Given the description of an element on the screen output the (x, y) to click on. 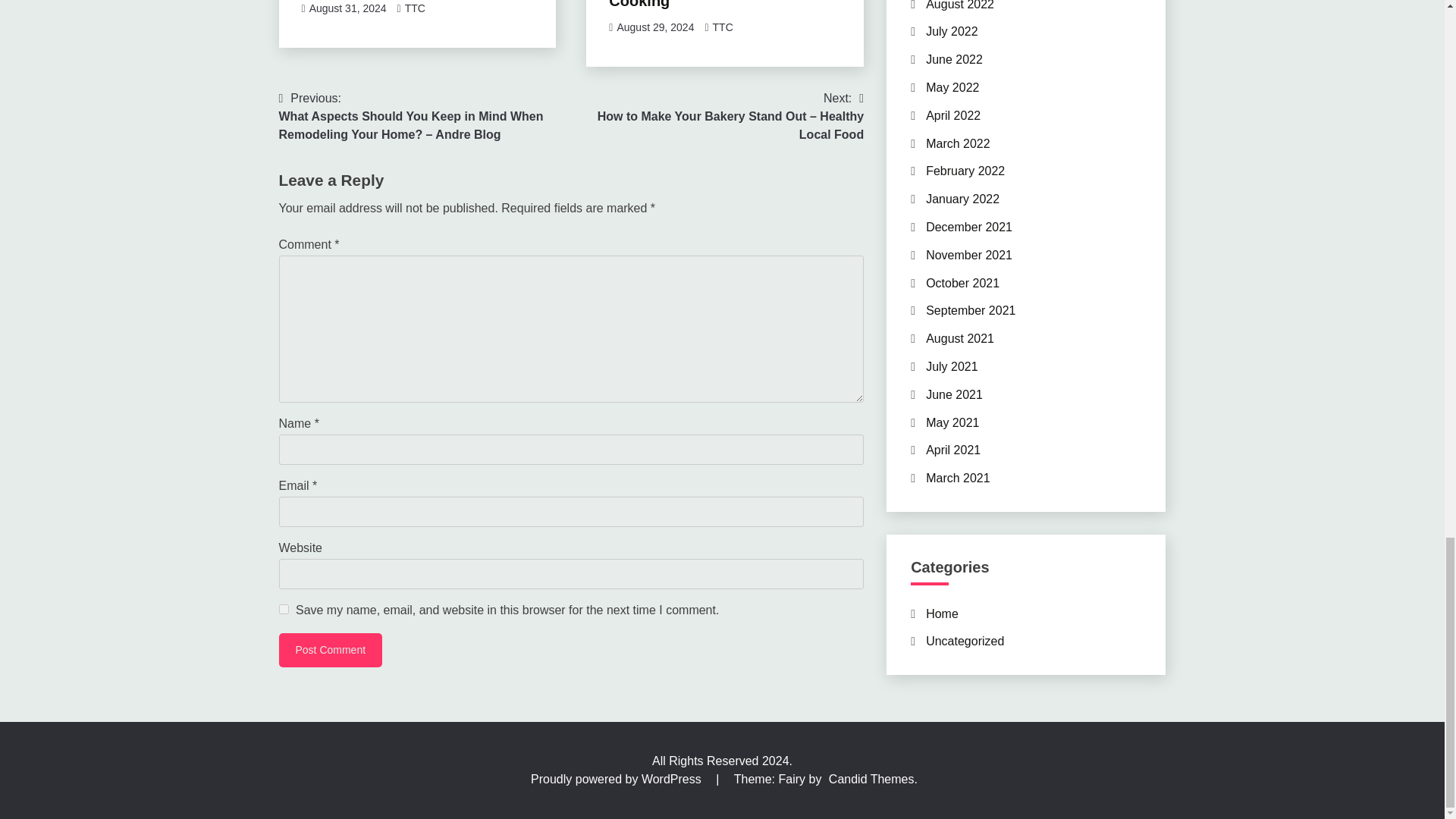
TTC (723, 27)
August 31, 2024 (347, 8)
yes (283, 609)
Post Comment (330, 650)
TTC (414, 8)
Post Comment (330, 650)
August 29, 2024 (654, 27)
